Given the description of an element on the screen output the (x, y) to click on. 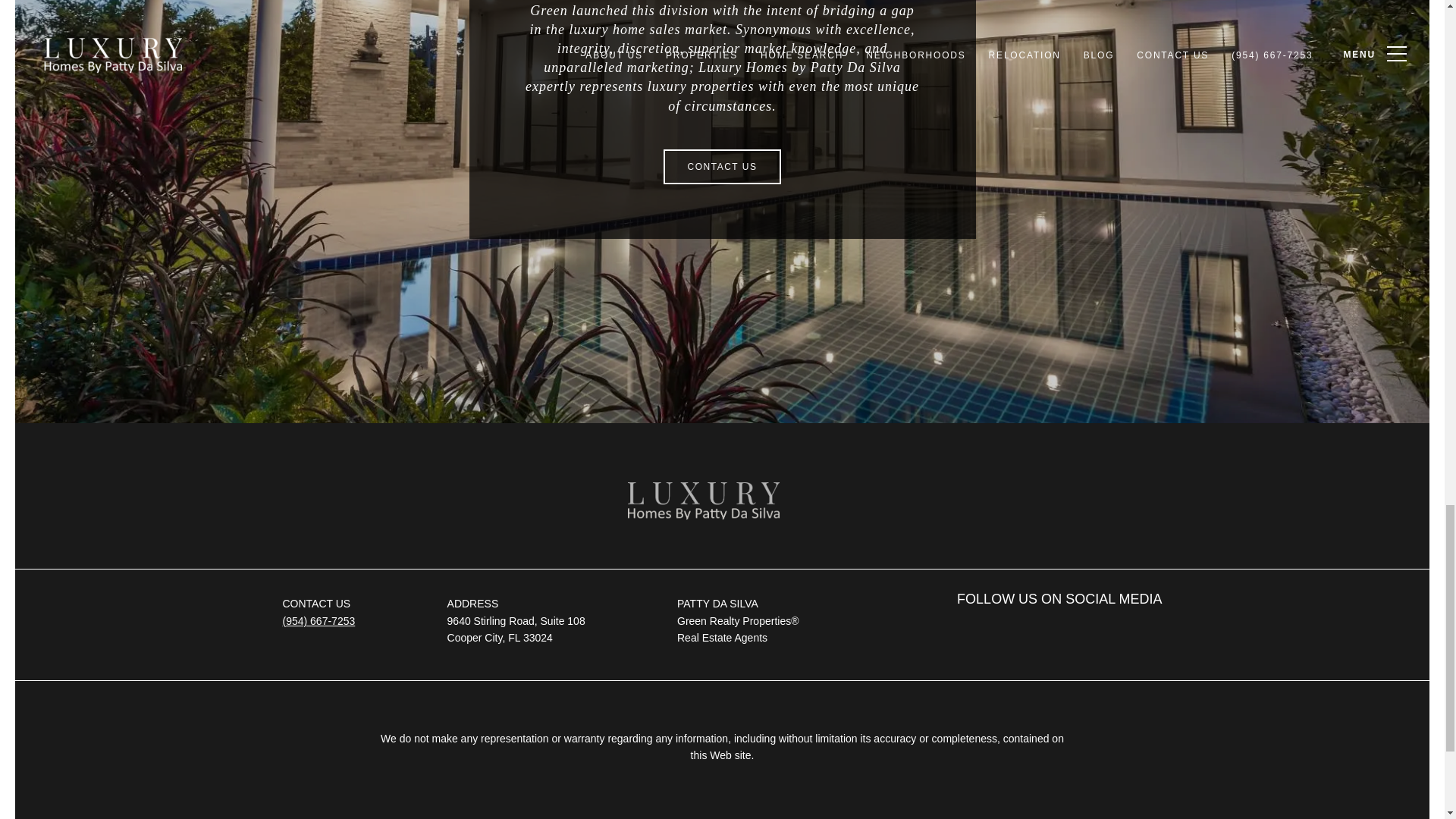
CONTACT US (722, 166)
